Given the description of an element on the screen output the (x, y) to click on. 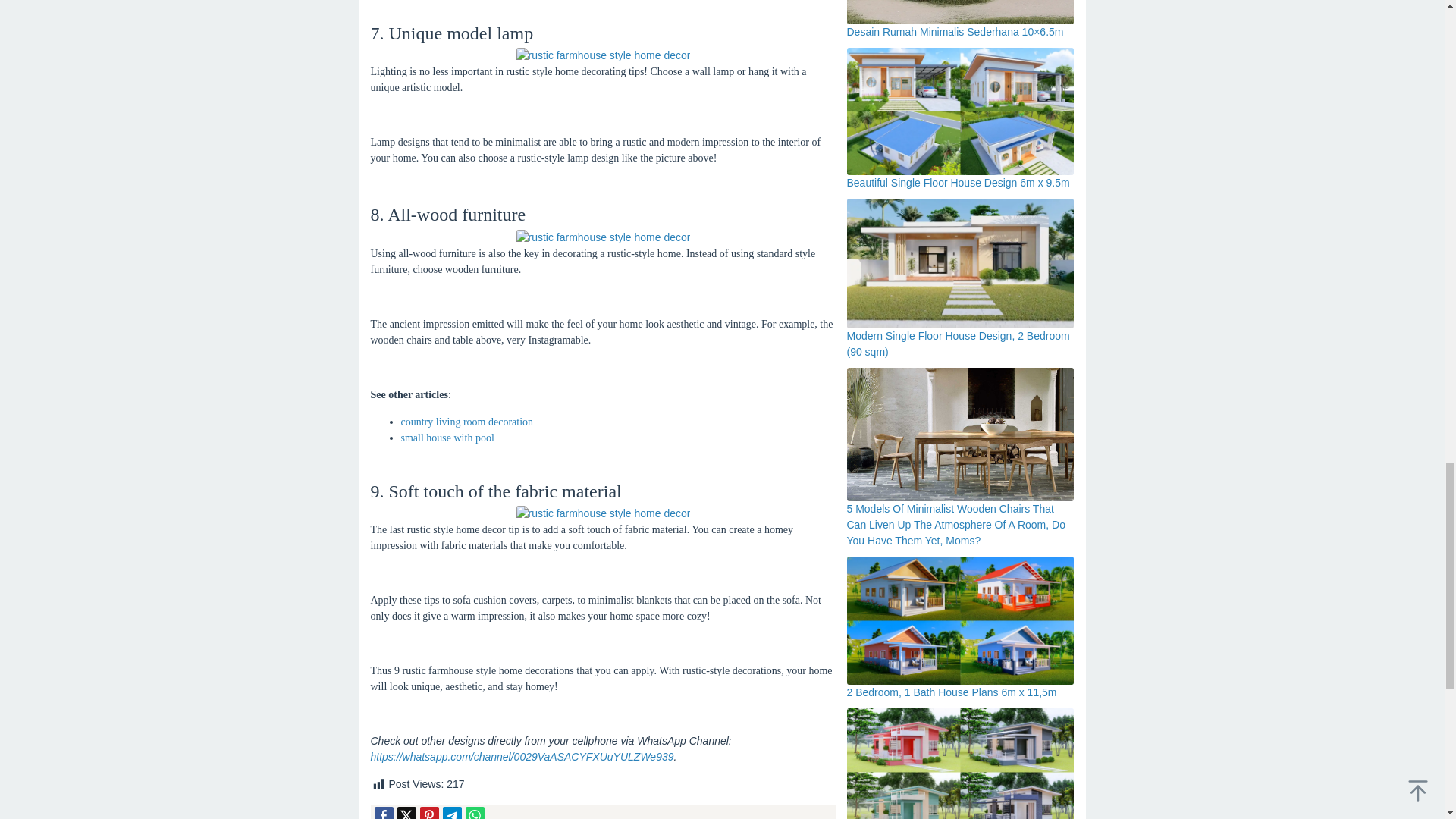
rustic farmhouse style home decor (602, 55)
Telegram Share (451, 812)
rustic farmhouse style home decor (602, 513)
rustic farmhouse style home decor (602, 237)
Share this (383, 812)
Whatsapp (474, 812)
Tweet this (406, 812)
Pin this (429, 812)
